Given the description of an element on the screen output the (x, y) to click on. 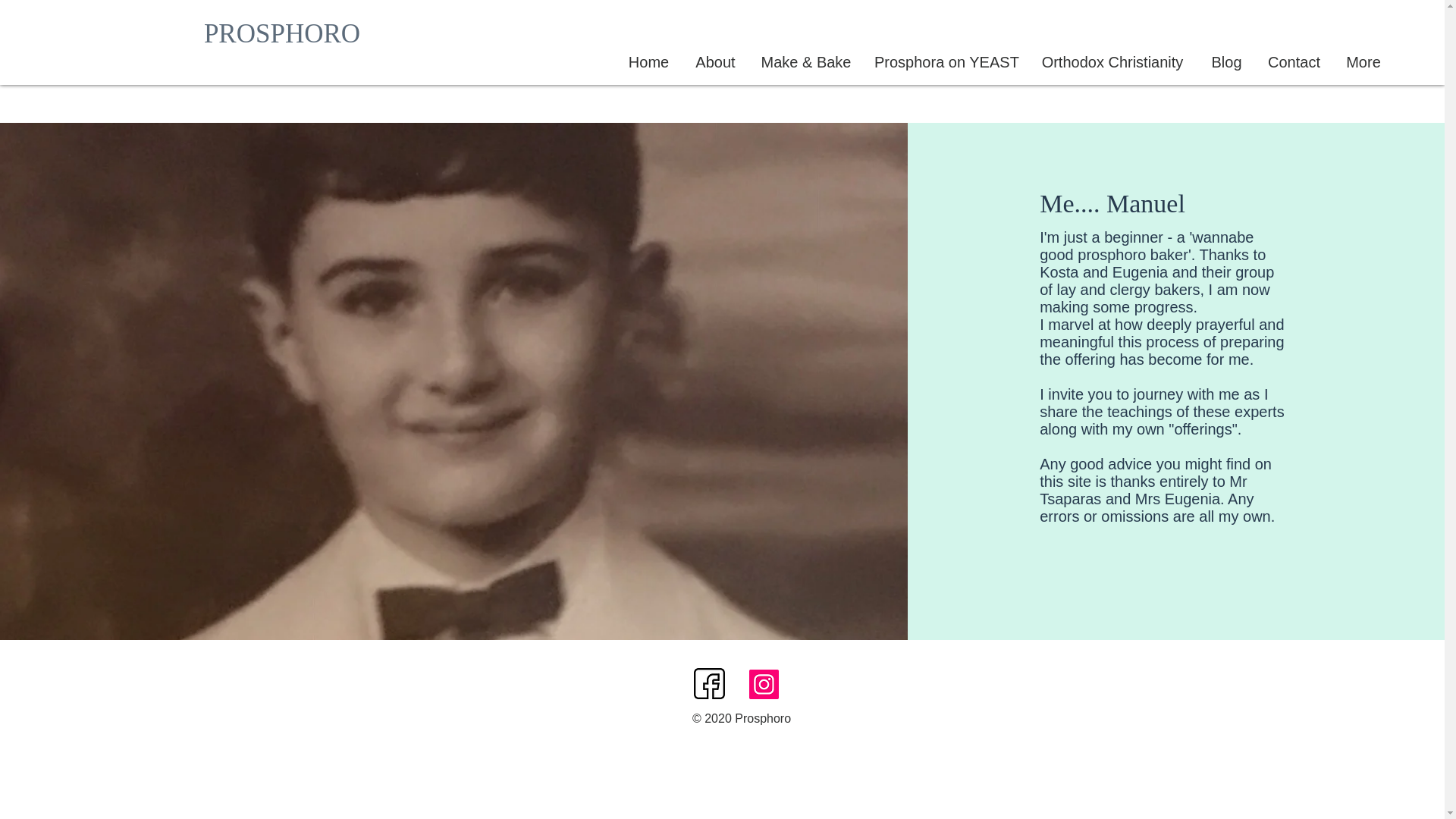
Home (648, 62)
Prosphora on YEAST (944, 62)
Orthodox Christianity (1112, 62)
Contact (1294, 62)
About (715, 62)
Blog (1226, 62)
PROSPHORO (282, 33)
